Given the description of an element on the screen output the (x, y) to click on. 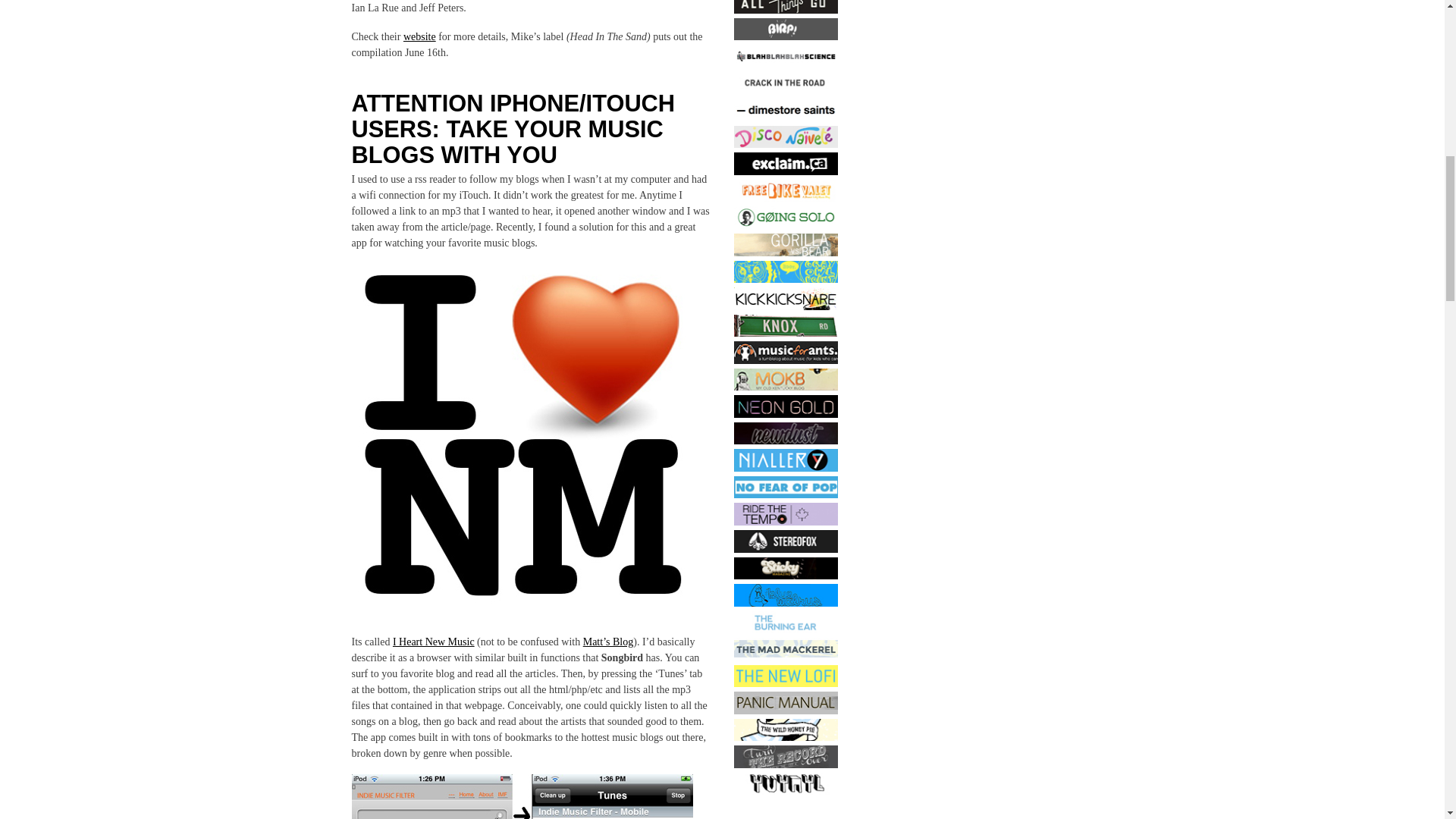
IMF Mobile -  I Heart New Music (522, 796)
website (419, 36)
I Heart New Music (433, 641)
I heart new music (522, 434)
